Given the description of an element on the screen output the (x, y) to click on. 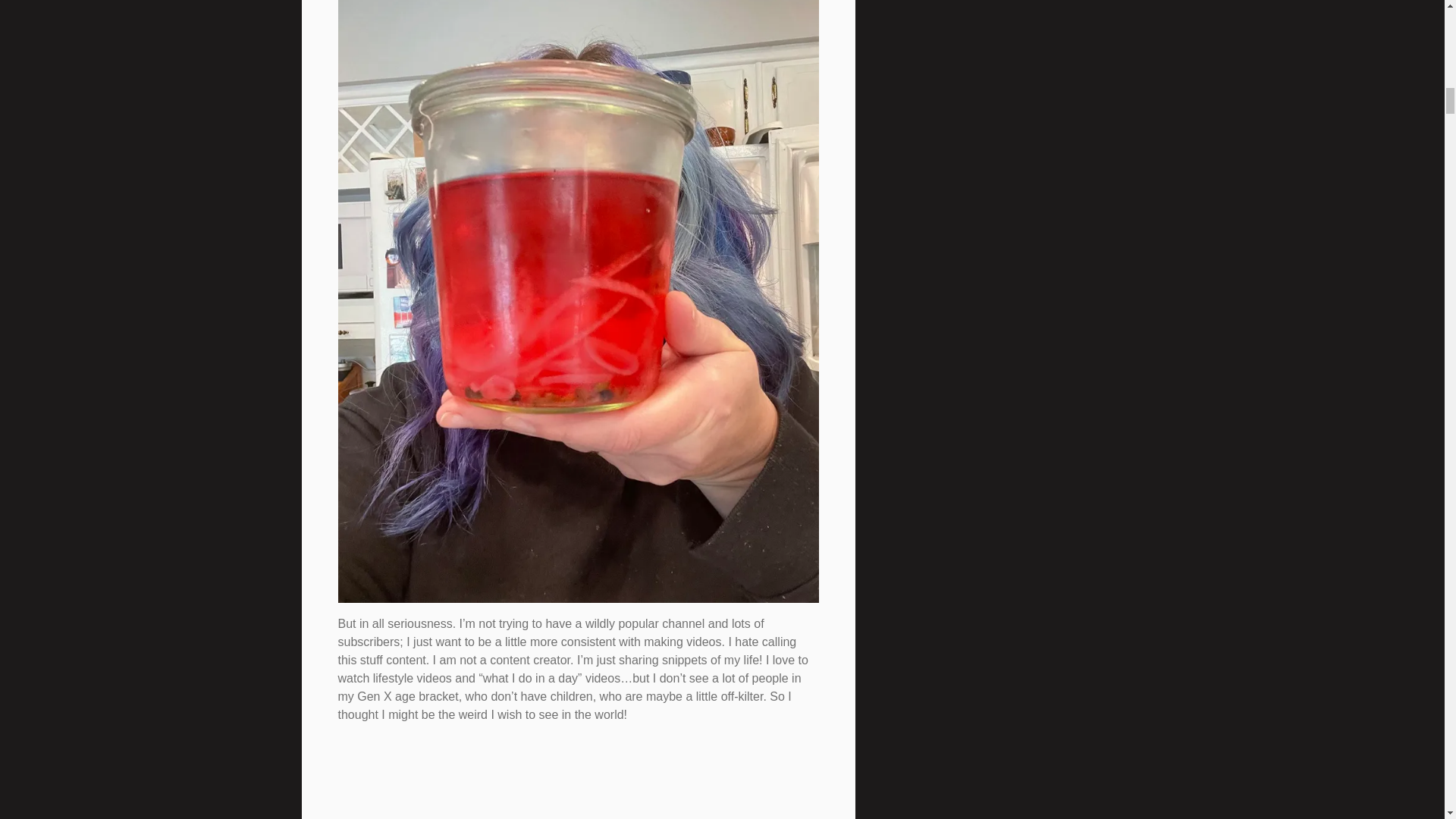
YouTube video player (549, 777)
